Given the description of an element on the screen output the (x, y) to click on. 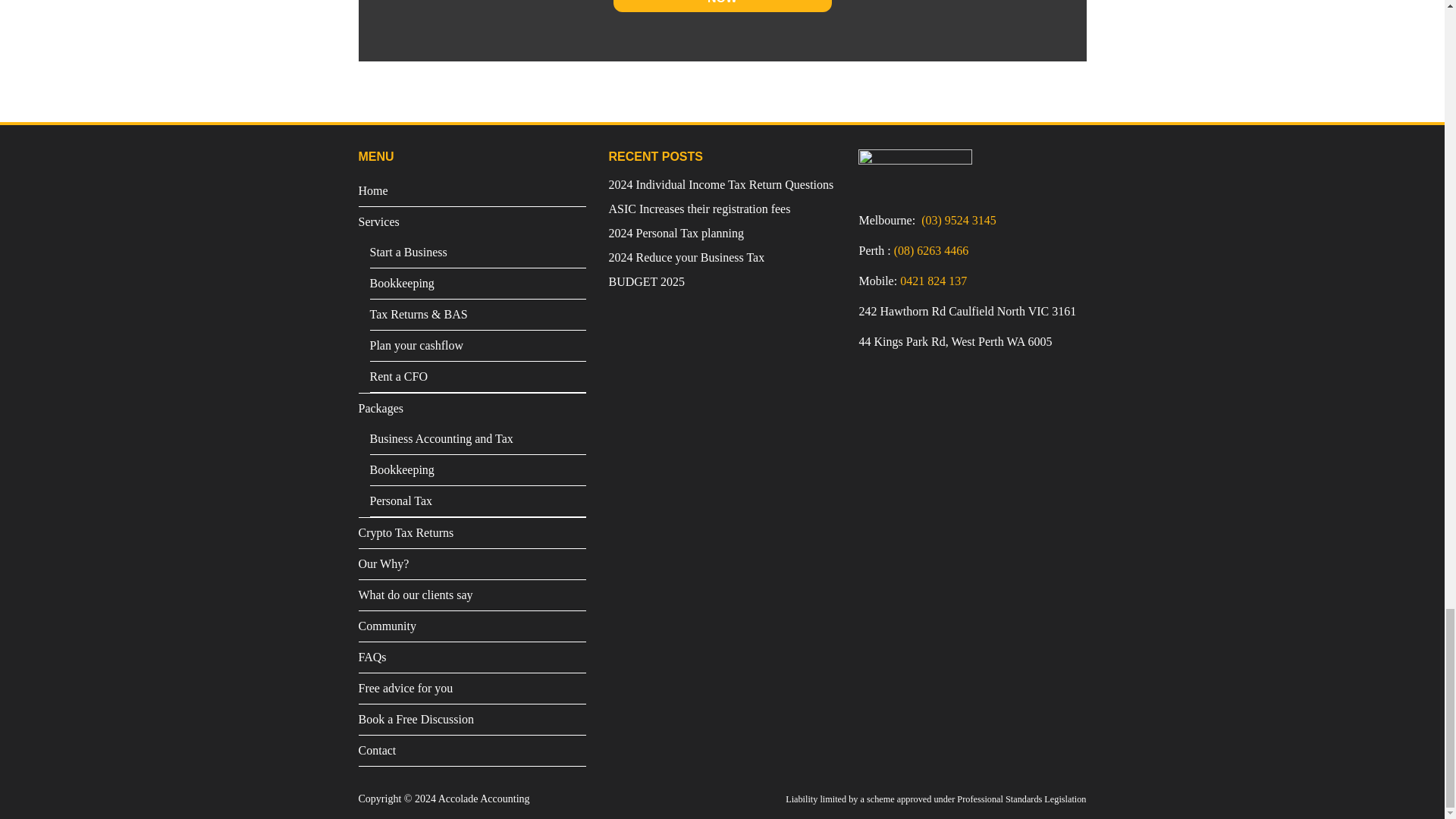
Bookkeeping (477, 470)
Services (472, 222)
Start a Business (477, 252)
Book me a FREE discussion NOW (721, 6)
Home (472, 191)
Rent a CFO (477, 376)
Packages (472, 408)
Plan your cashflow (477, 345)
Business Accounting and Tax (477, 439)
Bookkeeping (477, 283)
